Given the description of an element on the screen output the (x, y) to click on. 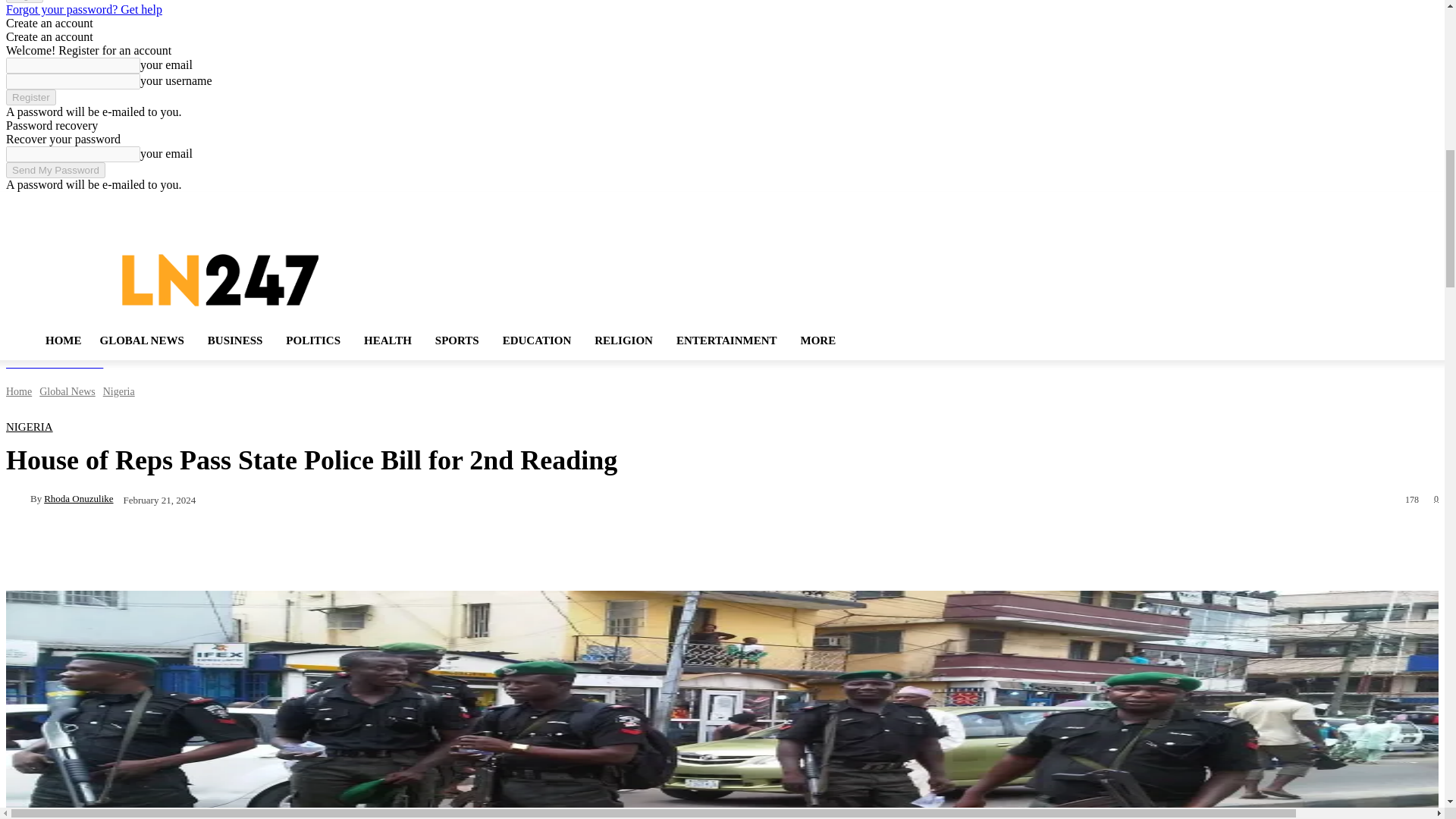
Login (24, 1)
Send My Password (54, 170)
Register (30, 97)
Instagram (1366, 203)
Twitter (1388, 203)
Facebook (1346, 203)
Youtube (1409, 203)
